Given the description of an element on the screen output the (x, y) to click on. 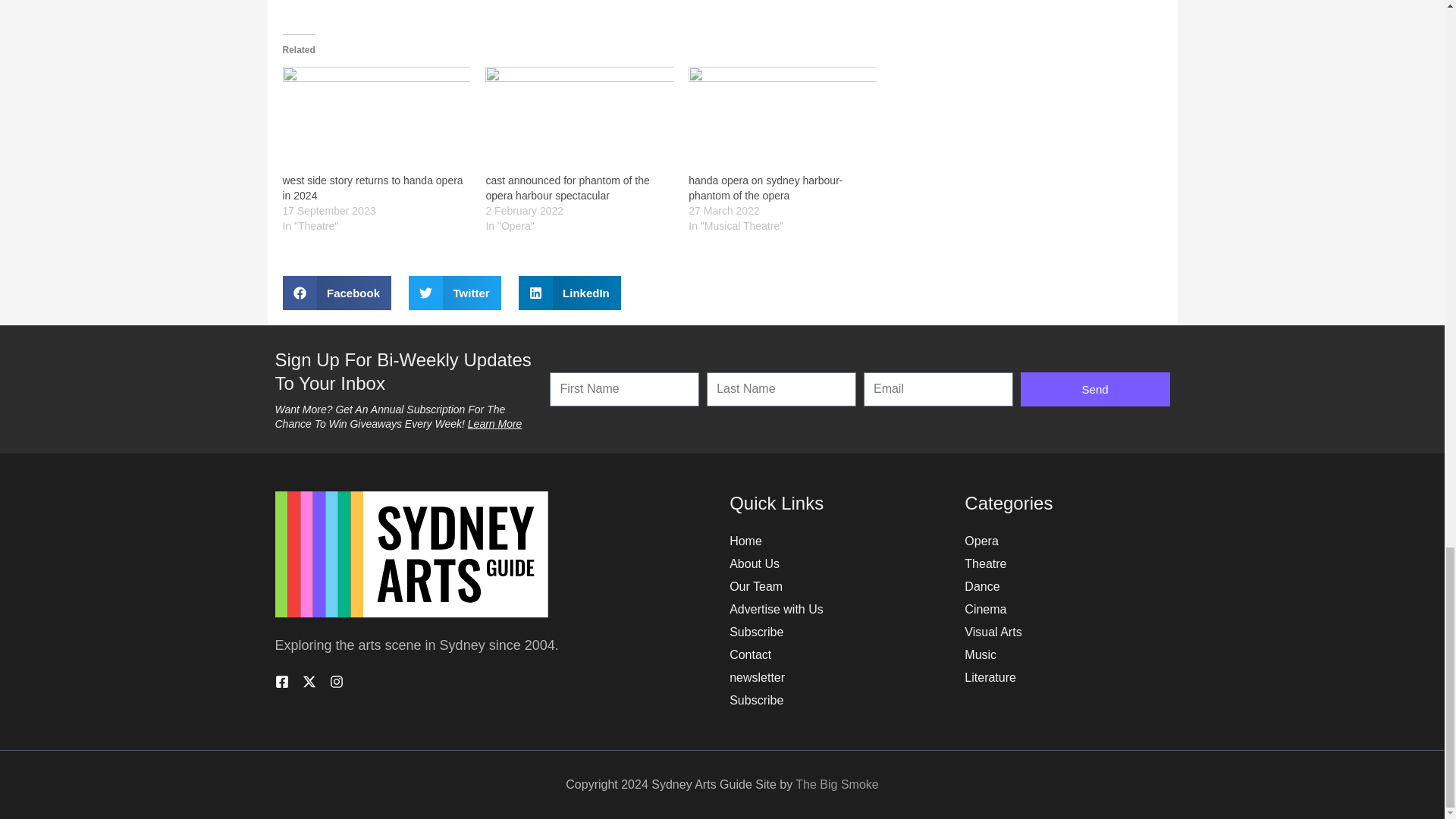
west side story returns to handa opera in 2024 (372, 187)
handa opera on sydney harbour-phantom of the opera (765, 187)
Page 1 (486, 645)
cast announced for phantom of the opera harbour  spectacular (566, 187)
west side story returns to handa opera in 2024 (372, 187)
cast announced for phantom of the opera harbour  spectacular (578, 118)
handa opera on sydney harbour-phantom of the opera (782, 118)
west side story returns to handa opera in 2024 (376, 118)
